Given the description of an element on the screen output the (x, y) to click on. 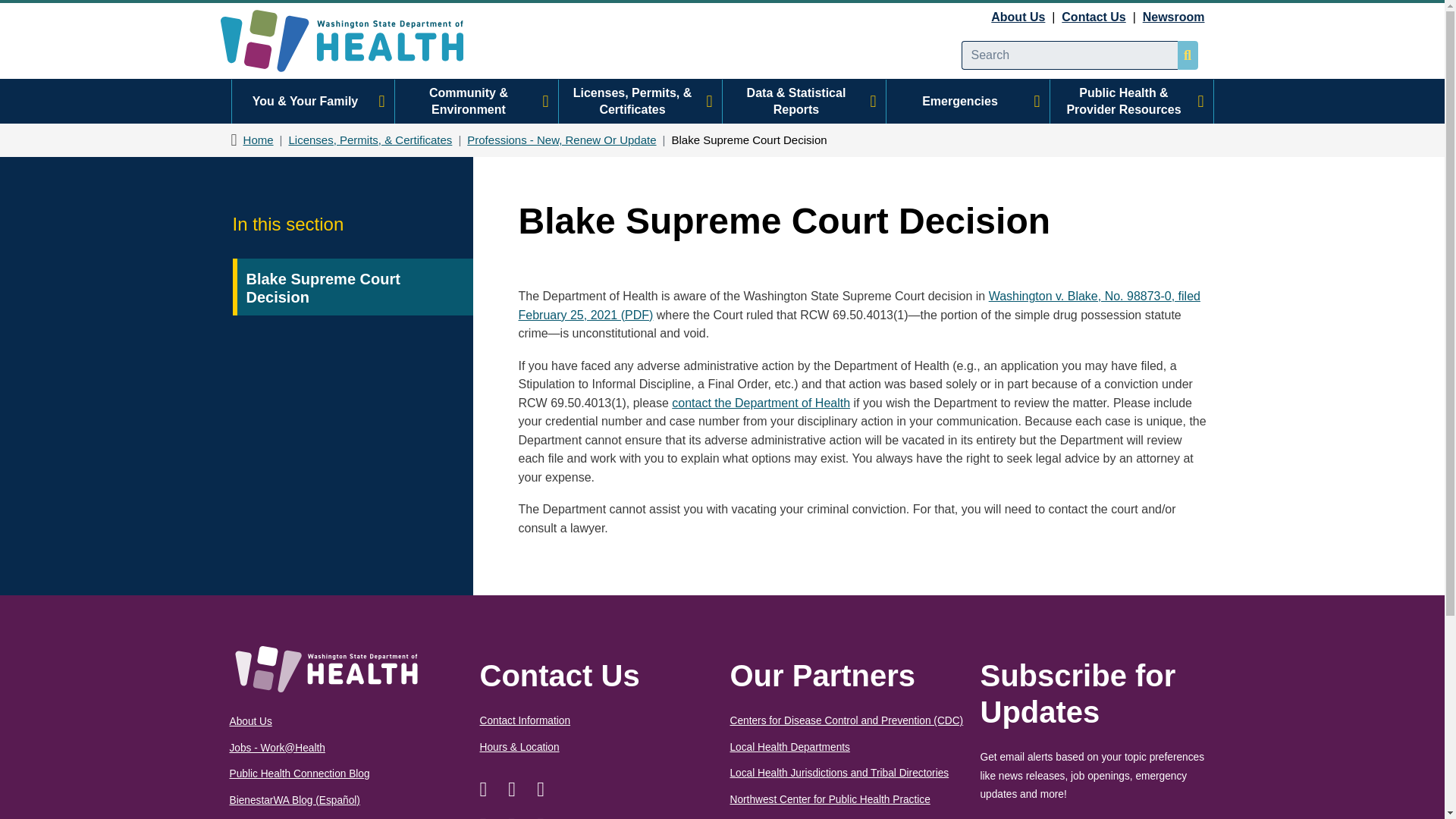
Enter the terms you wish to search for. (1068, 54)
Home (354, 40)
